Given the description of an element on the screen output the (x, y) to click on. 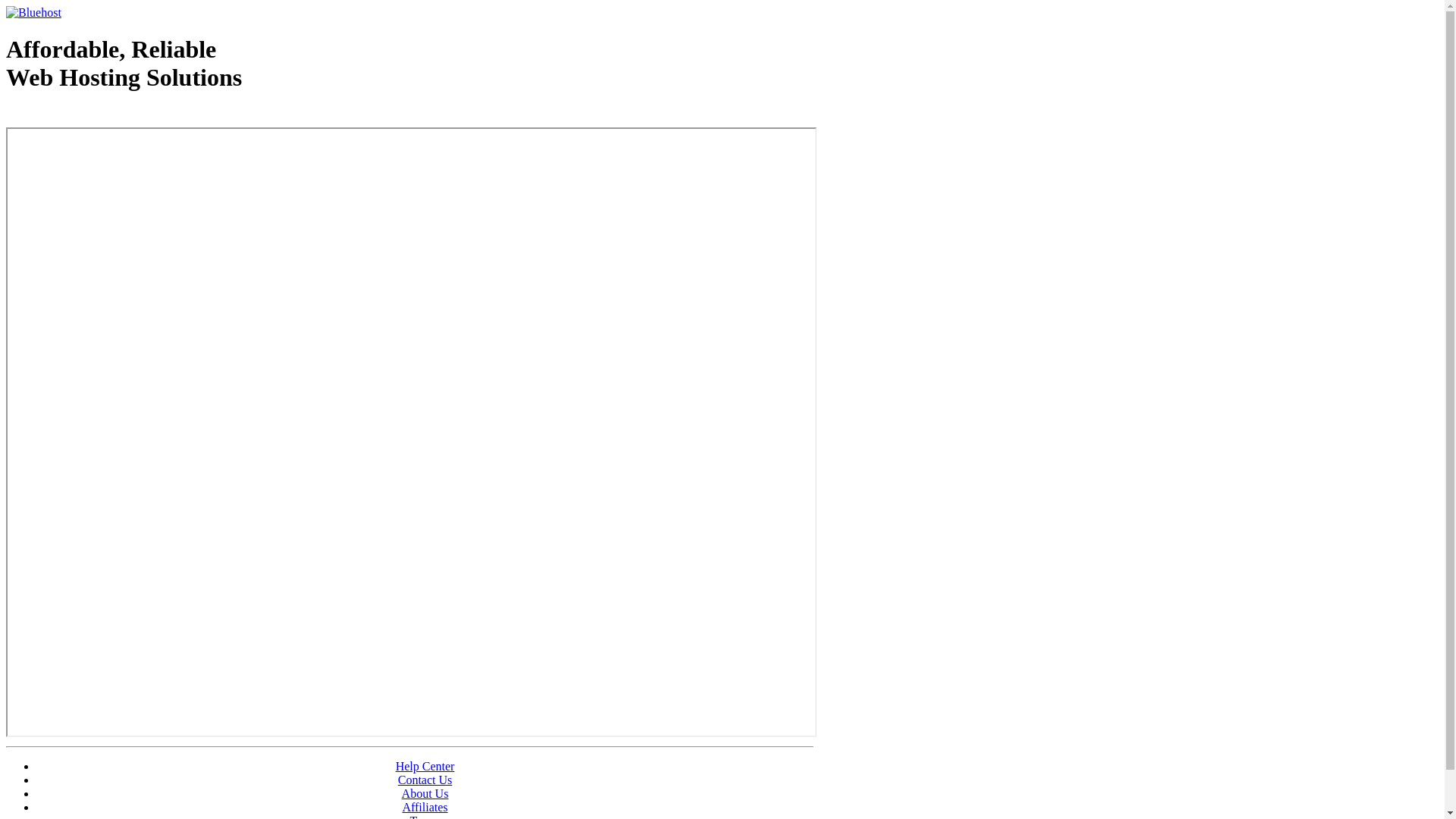
Contact Us Element type: text (425, 779)
Web Hosting - courtesy of www.bluehost.com Element type: text (94, 115)
Help Center Element type: text (425, 765)
Affiliates Element type: text (424, 806)
About Us Element type: text (424, 793)
